Given the description of an element on the screen output the (x, y) to click on. 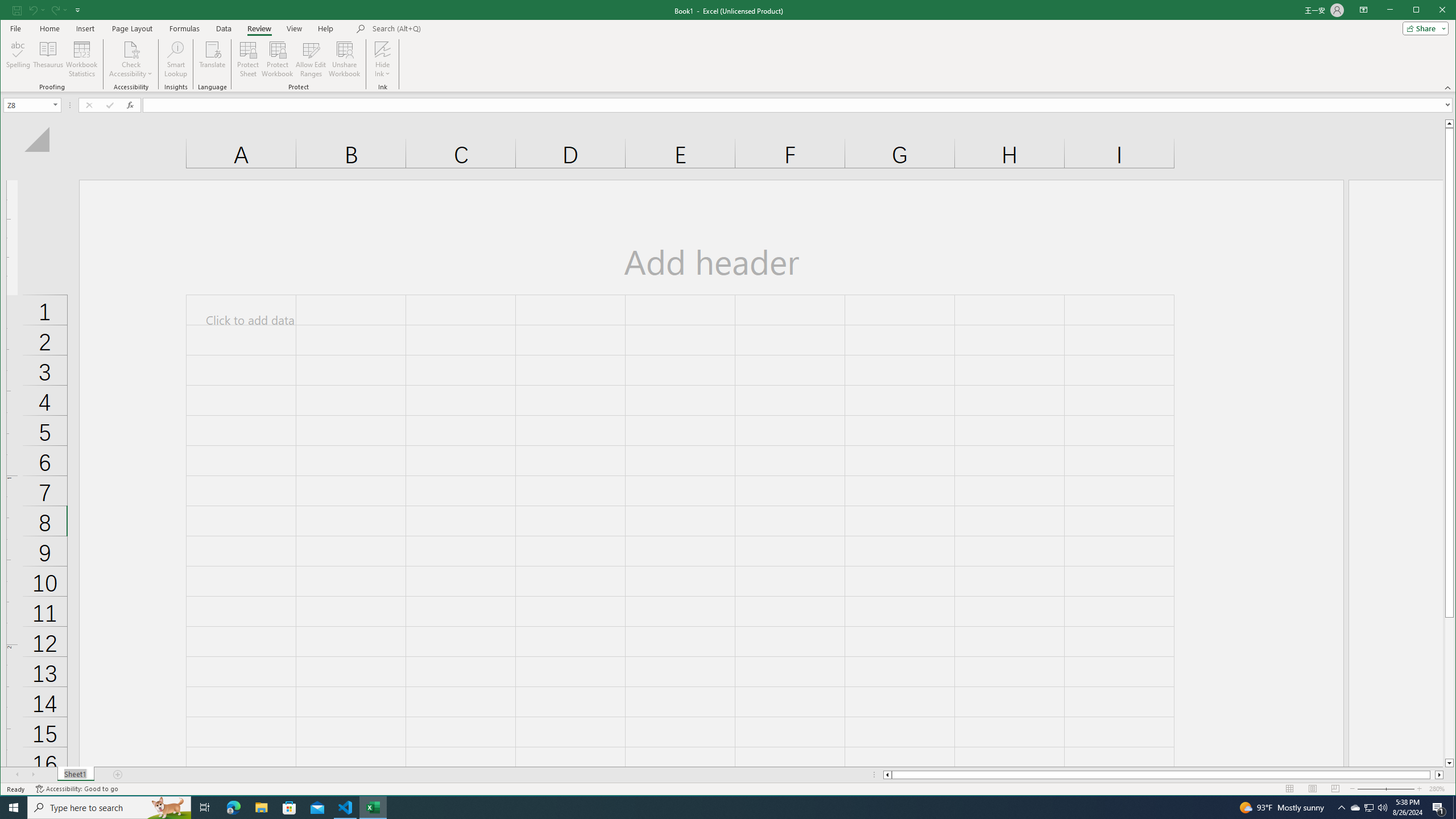
Start (13, 807)
Q2790: 100% (1355, 807)
